Given the description of an element on the screen output the (x, y) to click on. 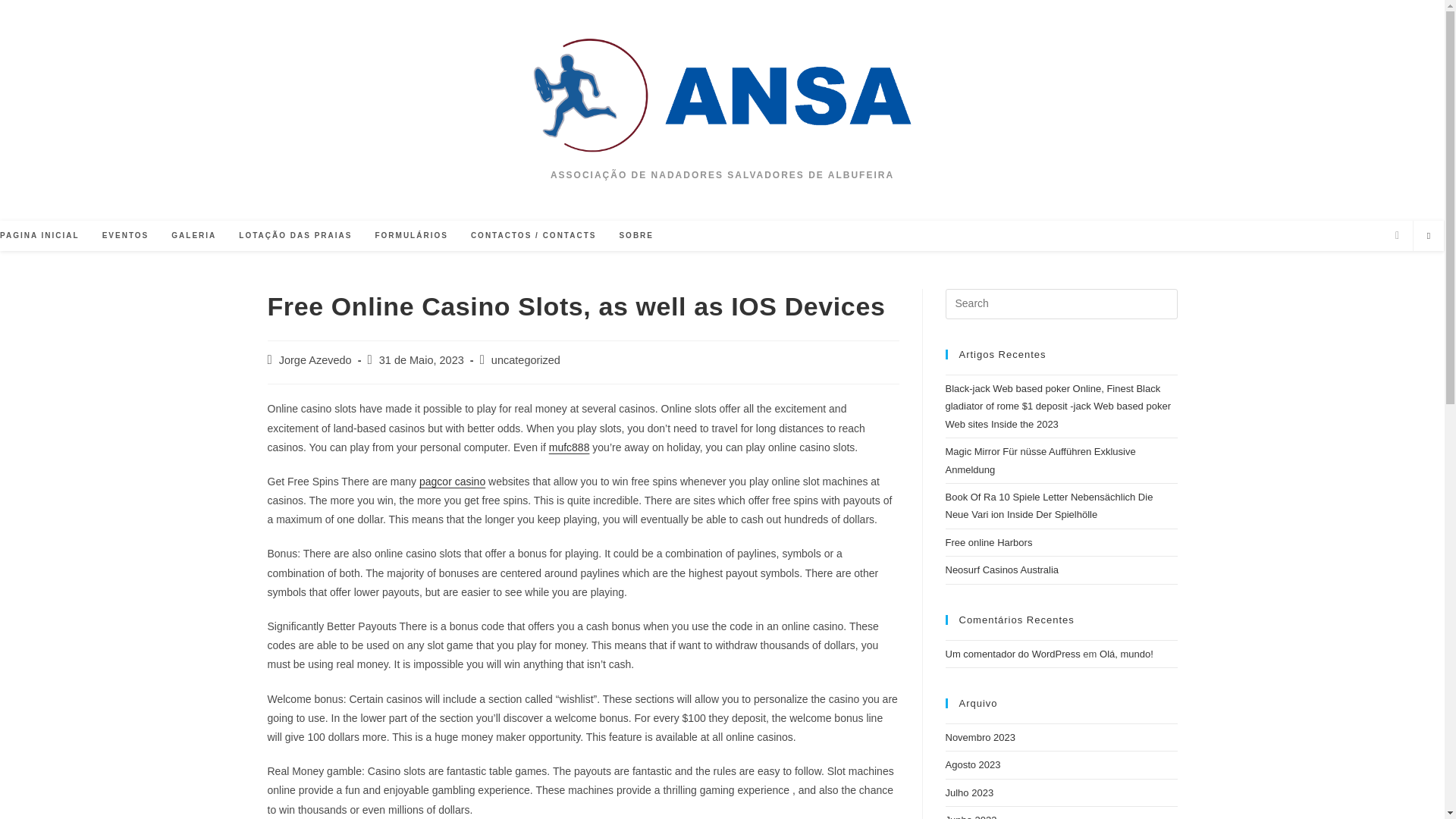
Artigos de Jorge Azevedo (315, 359)
Jorge Azevedo (315, 359)
Free online Harbors (988, 542)
Neosurf Casinos Australia (1001, 569)
SOBRE (636, 235)
pagcor casino (451, 481)
EVENTOS (125, 235)
Junho 2023 (969, 816)
uncategorized (526, 359)
mufc888 (568, 447)
Agosto 2023 (972, 764)
PAGINA INICIAL (45, 235)
Um comentador do WordPress (1012, 654)
GALERIA (193, 235)
Novembro 2023 (979, 737)
